Given the description of an element on the screen output the (x, y) to click on. 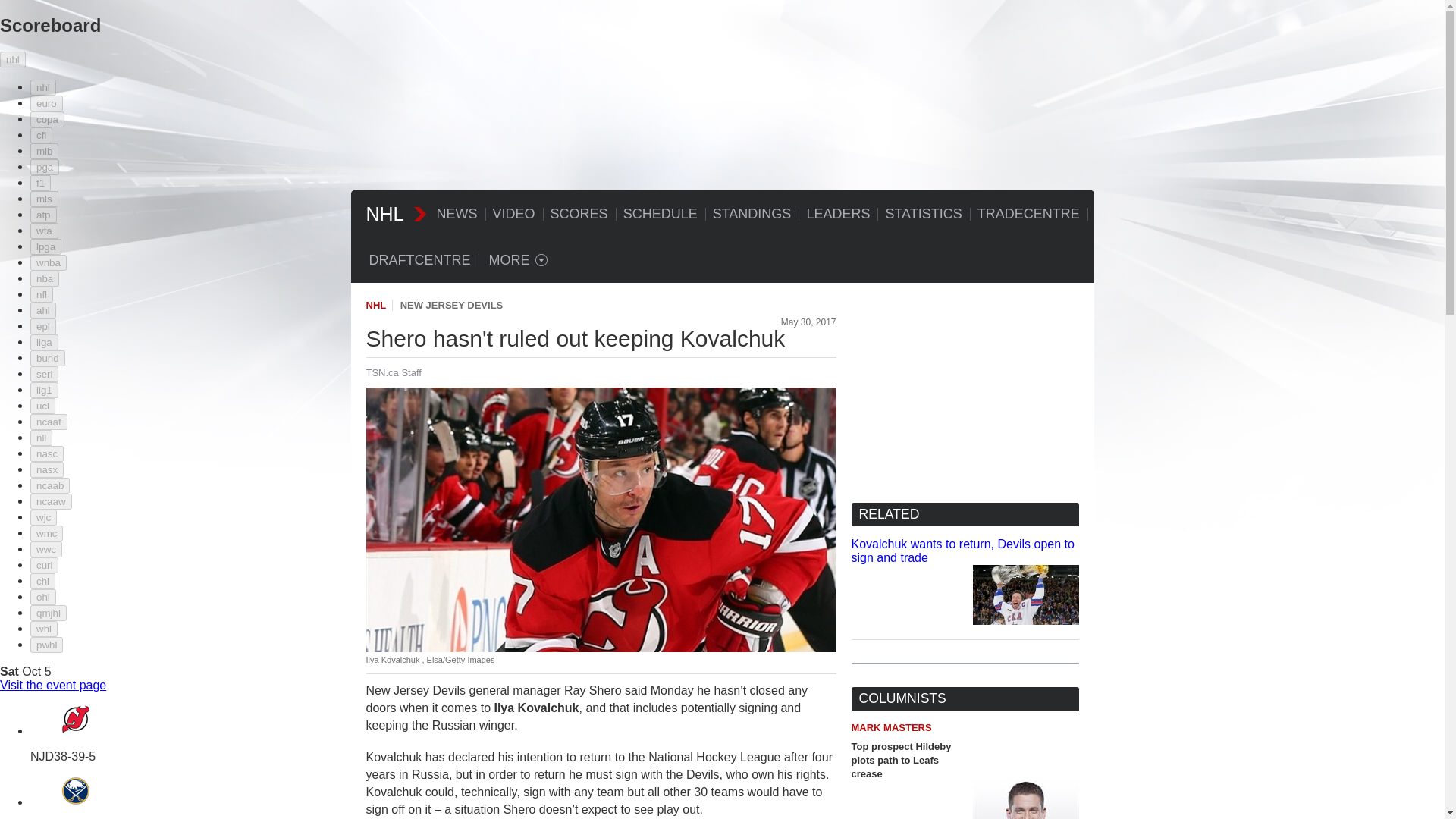
3rd party ad content (964, 392)
3rd party ad content (721, 144)
